Given the description of an element on the screen output the (x, y) to click on. 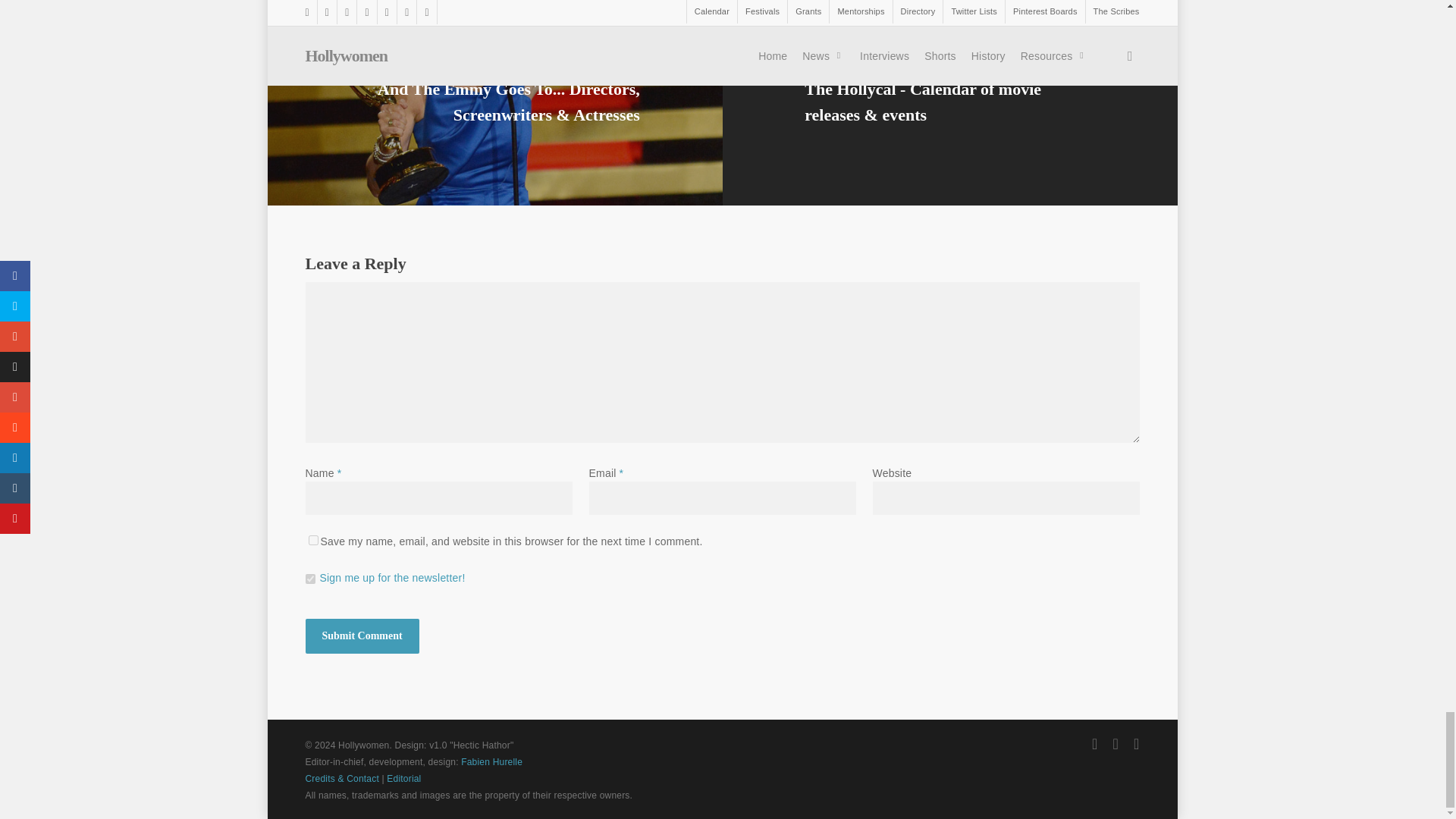
yes (312, 540)
1 (309, 578)
Submit Comment (361, 636)
